Given the description of an element on the screen output the (x, y) to click on. 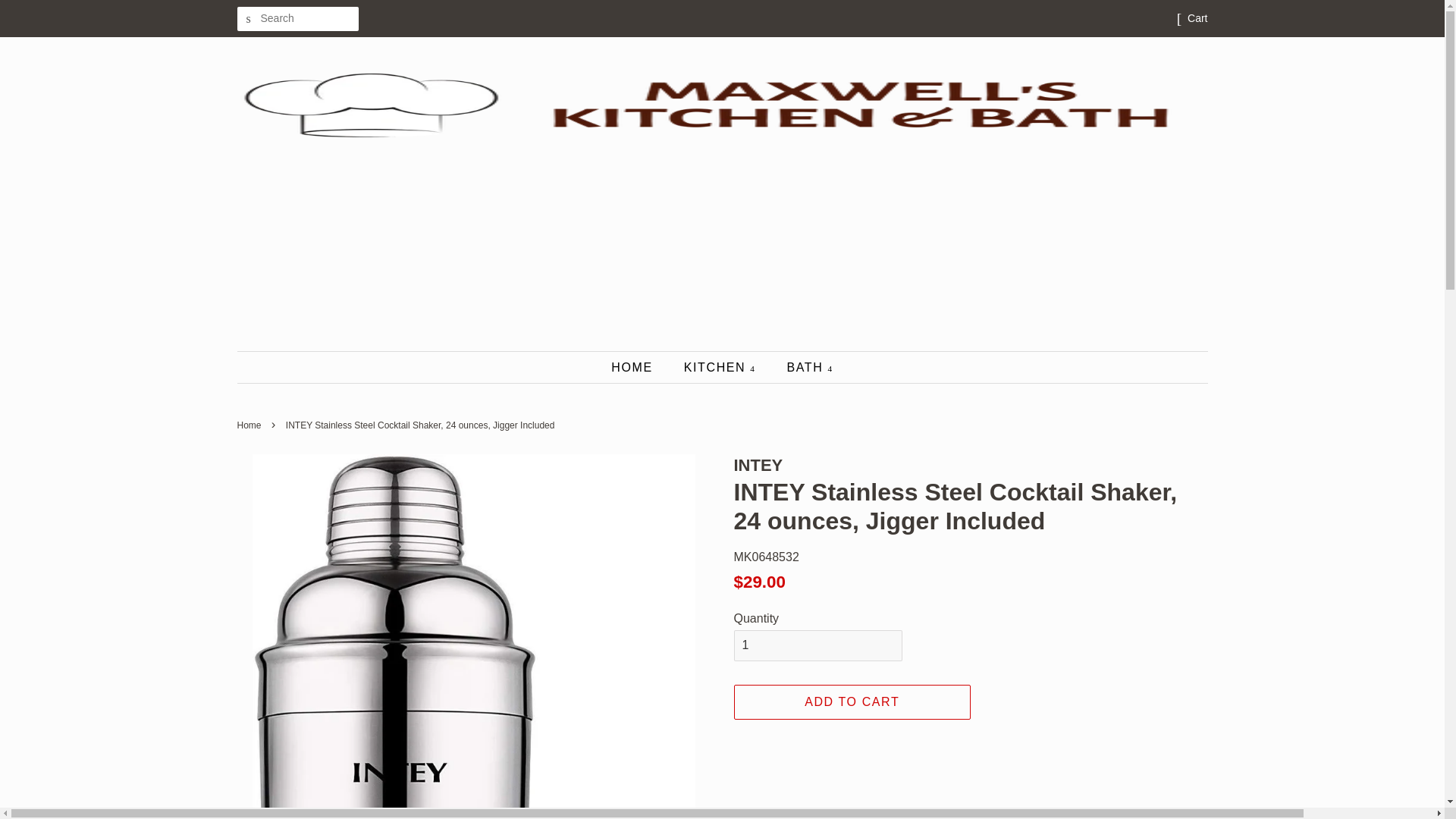
1 (817, 644)
SEARCH (247, 18)
KITCHEN (721, 367)
Back to the frontpage (249, 425)
Cart (1197, 18)
HOME (638, 367)
